Given the description of an element on the screen output the (x, y) to click on. 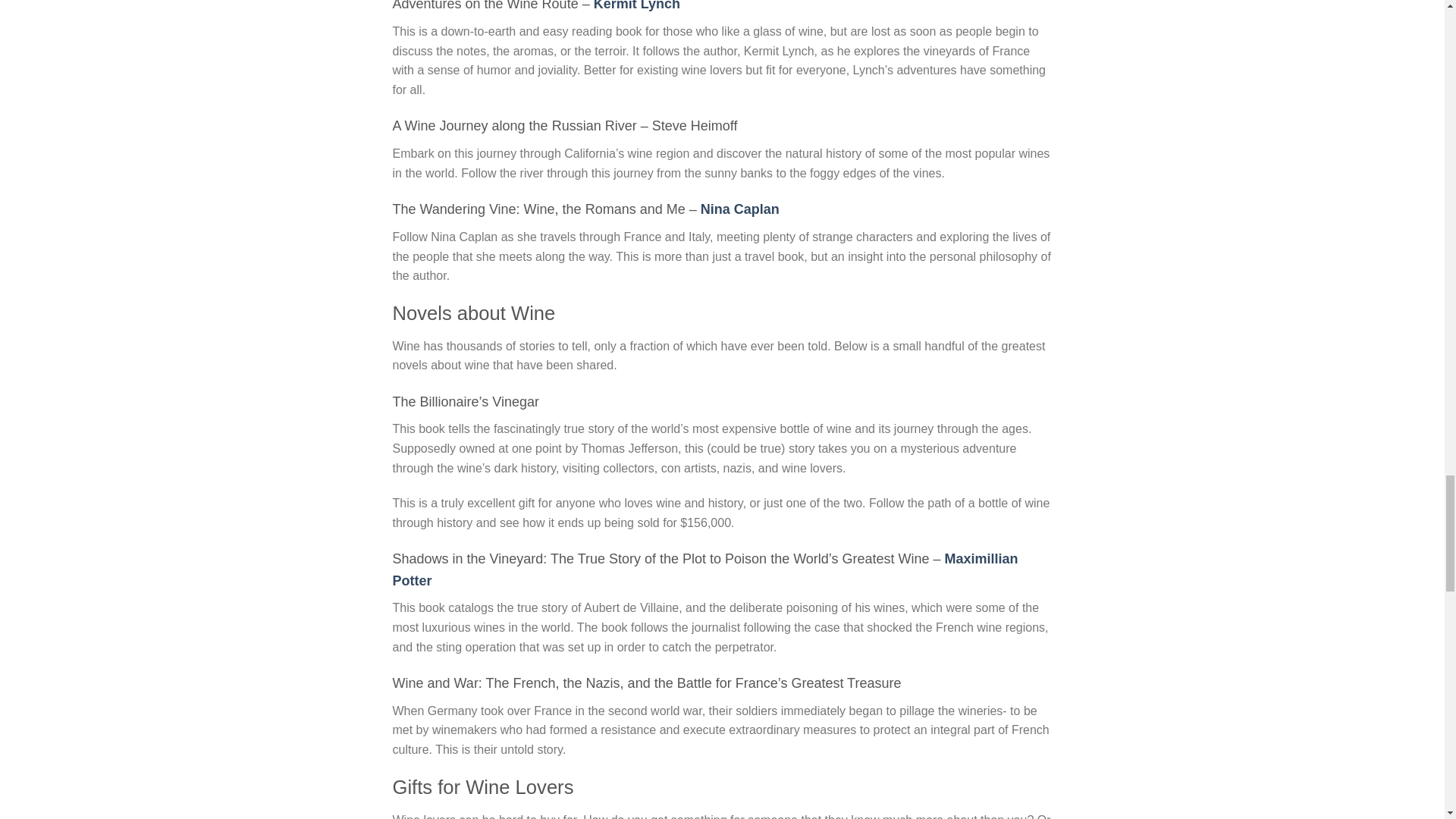
Kermit Lynch (636, 5)
